Given the description of an element on the screen output the (x, y) to click on. 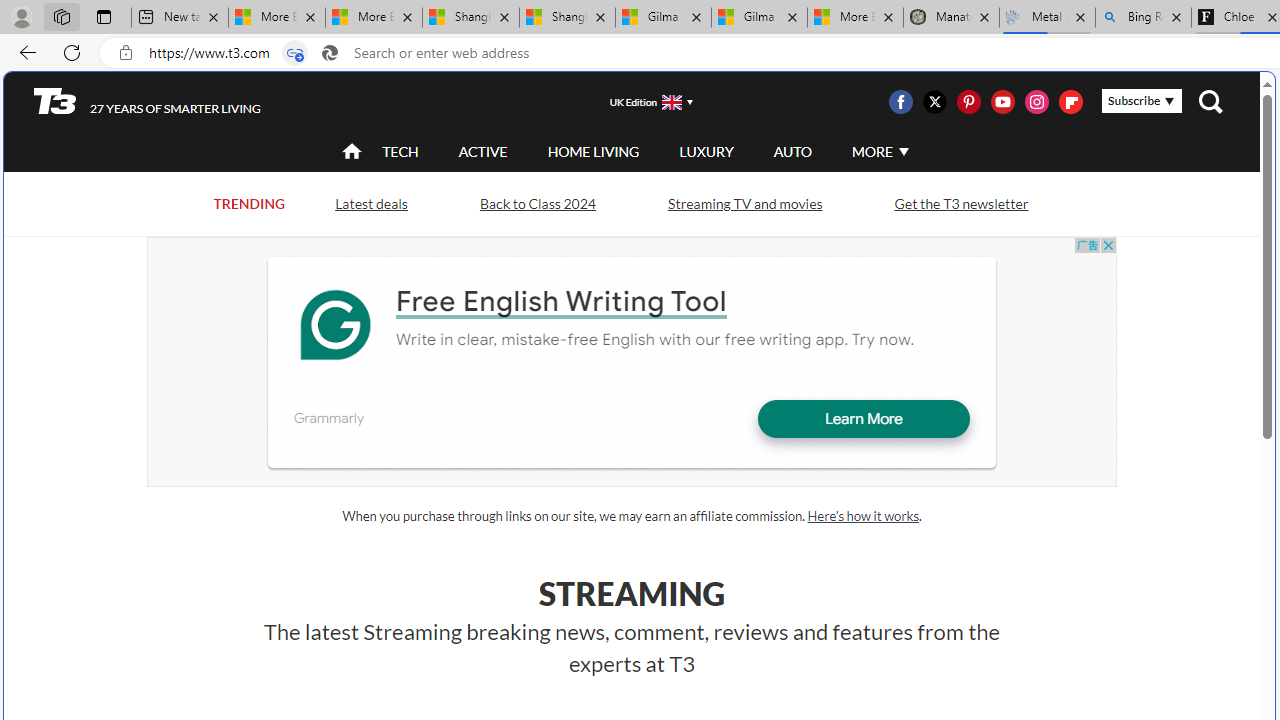
Class: navigation__item (350, 151)
Manatee Mortality Statistics | FWC (951, 17)
Visit us on Pintrest (968, 101)
HOME LIVING (593, 151)
Visit us on Twitter (934, 101)
Class: icon-svg (1070, 101)
Latest deals (370, 204)
Search icon (329, 53)
LUXURY (705, 151)
Gilma and Hector both pose tropical trouble for Hawaii (759, 17)
home (352, 152)
TECH (399, 151)
